Given the description of an element on the screen output the (x, y) to click on. 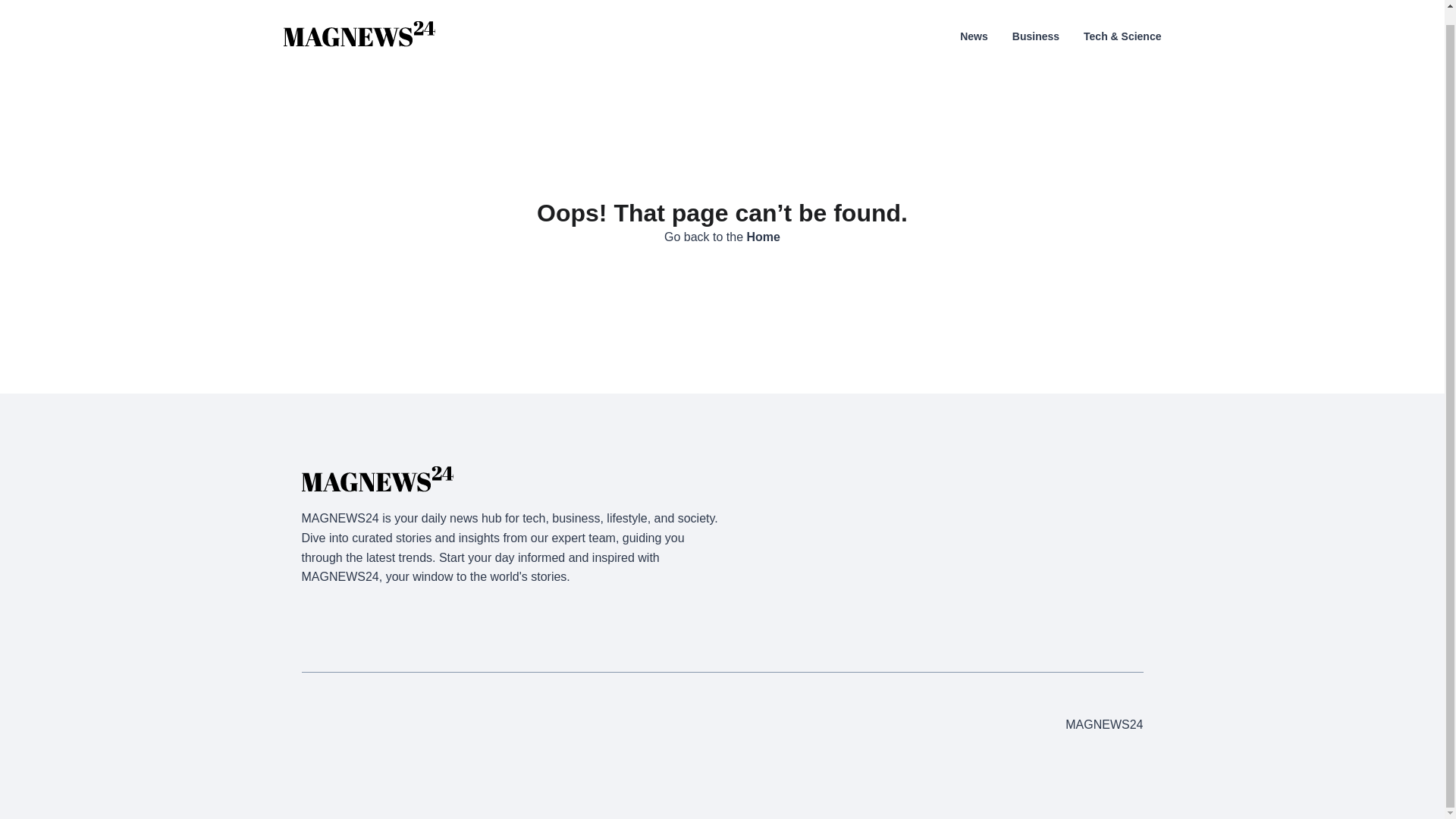
Business (1035, 21)
Home (763, 236)
News (973, 21)
